Given the description of an element on the screen output the (x, y) to click on. 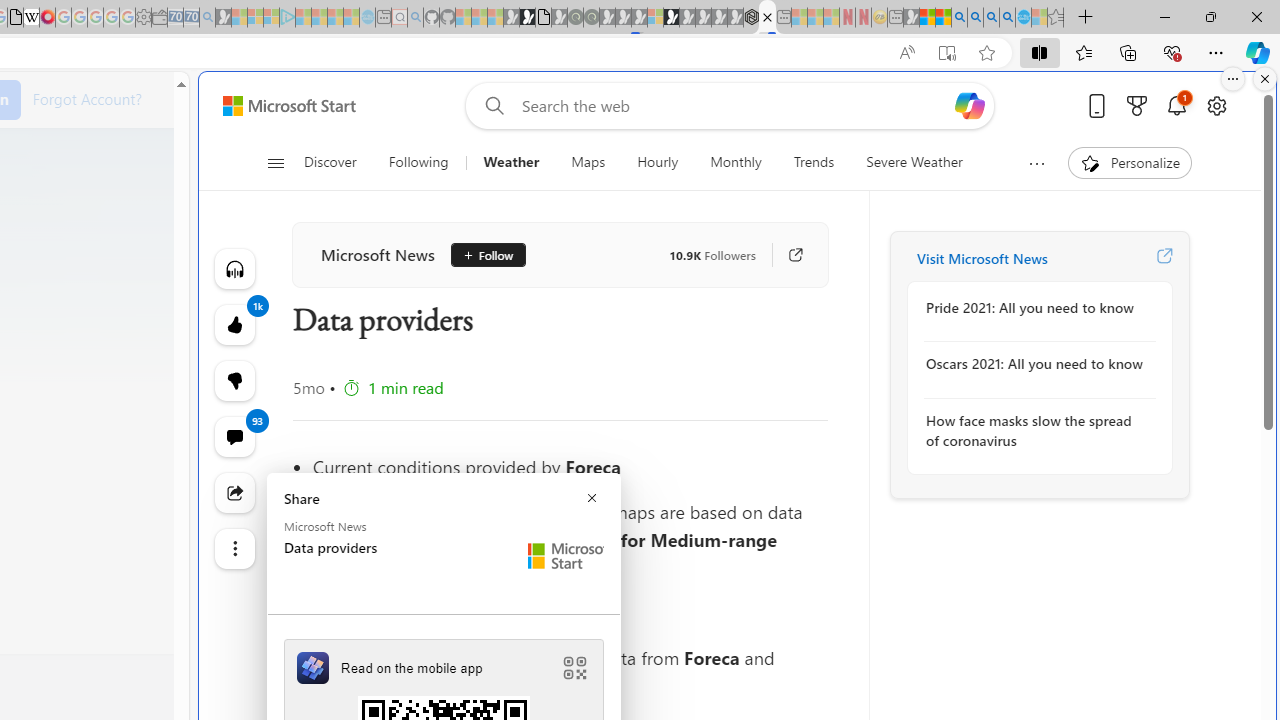
Monthly (735, 162)
